Given the description of an element on the screen output the (x, y) to click on. 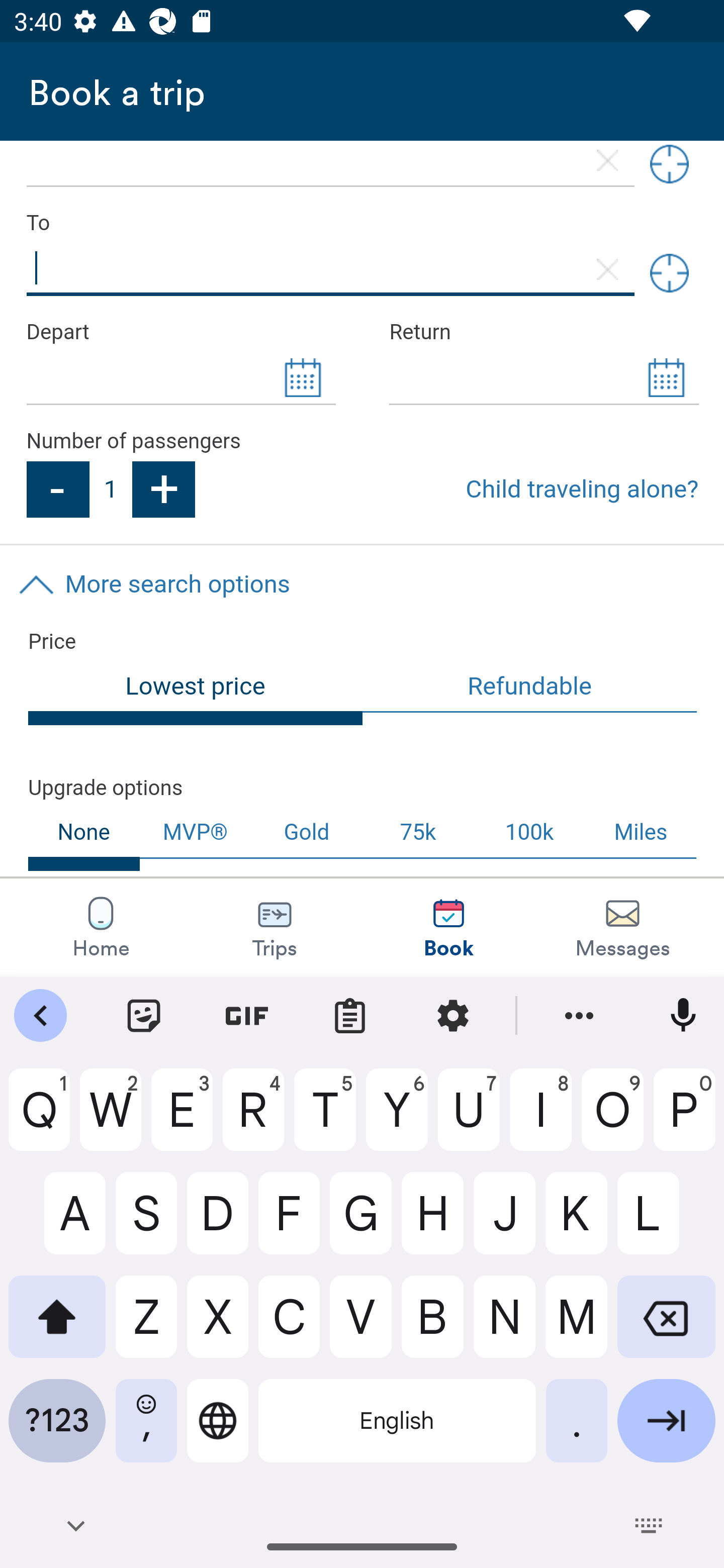
Geolocation (669, 166)
Geolocation (669, 273)
Depart (179, 332)
Return (544, 332)
- (56, 489)
+ (163, 489)
Child traveling alone? (582, 489)
More search options (362, 584)
Lowest price (196, 693)
Refundable (530, 687)
None (84, 839)
MVP® (195, 833)
Gold (306, 833)
75k (417, 833)
100k (528, 833)
Miles (641, 833)
Home (100, 927)
Trips (275, 927)
Book (448, 927)
Messages (622, 927)
